Given the description of an element on the screen output the (x, y) to click on. 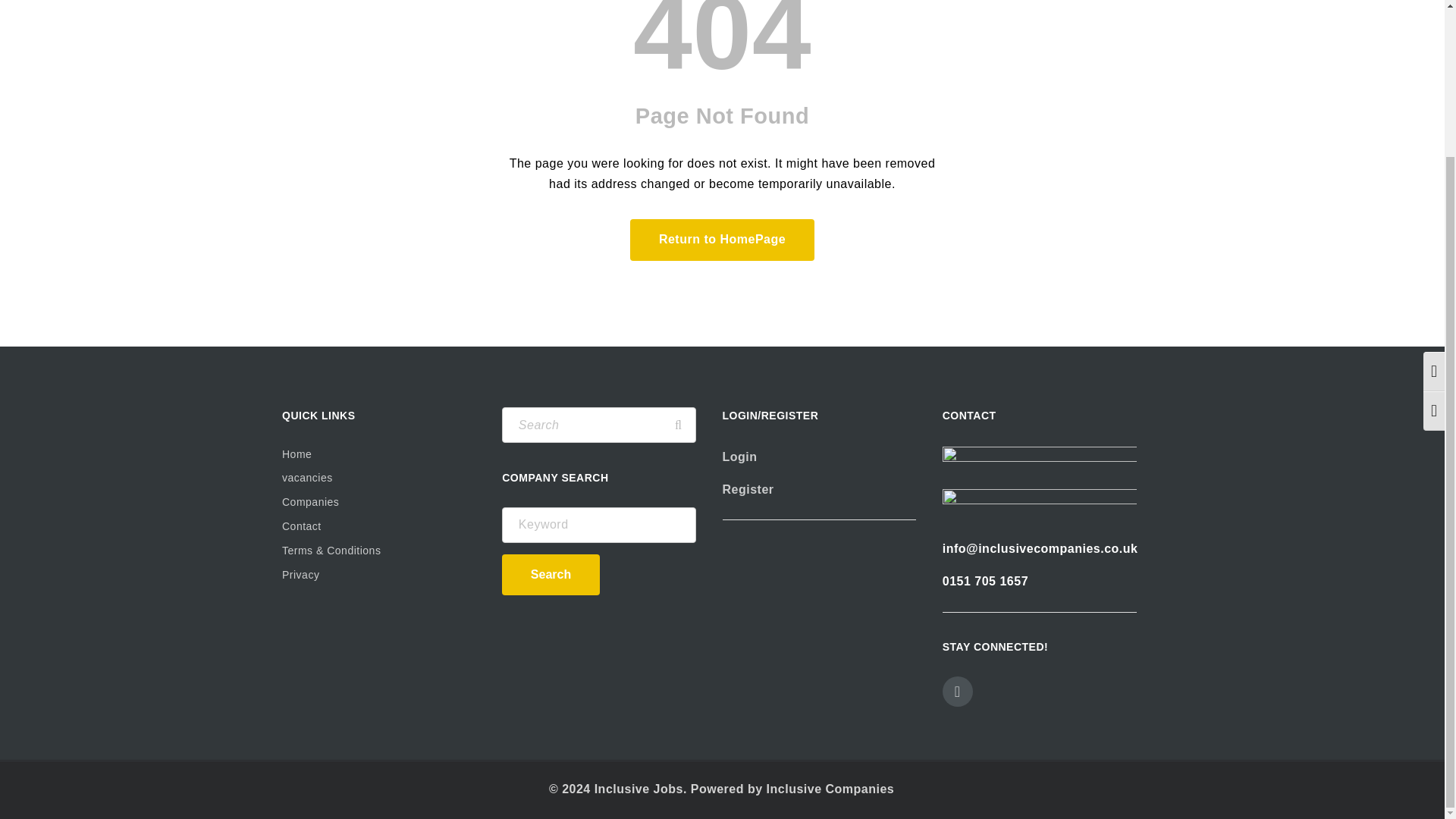
Privacy (379, 575)
Login (739, 456)
vacancies (379, 478)
Search (678, 425)
Search (550, 575)
Contact (379, 526)
Companies (379, 502)
Return to HomePage (721, 240)
Search (678, 425)
Home Page (721, 240)
